Given the description of an element on the screen output the (x, y) to click on. 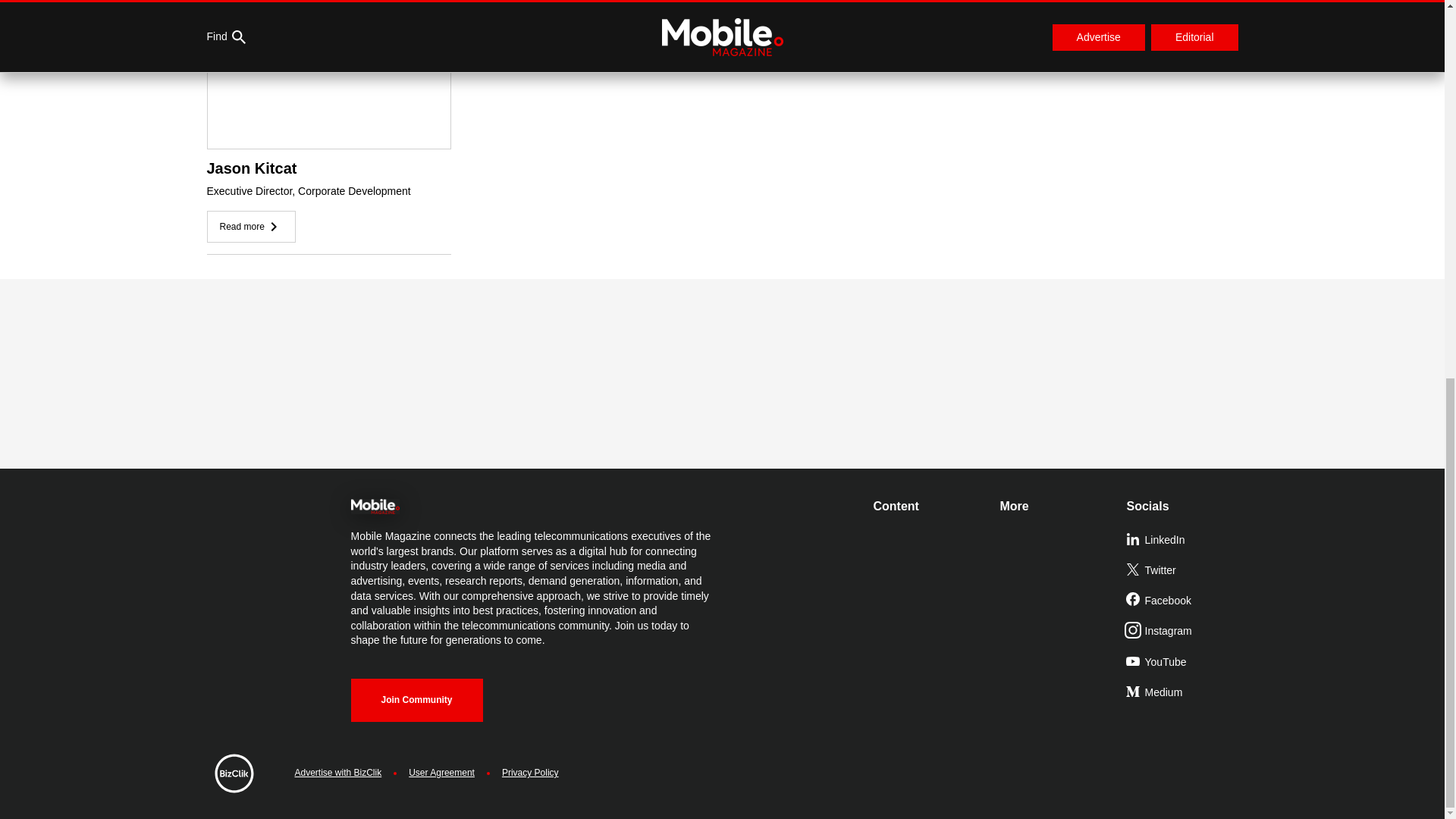
User Agreement (441, 772)
Advertise with BizClik (337, 772)
YouTube (1182, 662)
Join Community (415, 699)
Facebook (1182, 601)
Privacy Policy (530, 772)
Twitter (1182, 571)
Instagram (1182, 631)
LinkedIn (1182, 540)
Medium (1182, 693)
